Given the description of an element on the screen output the (x, y) to click on. 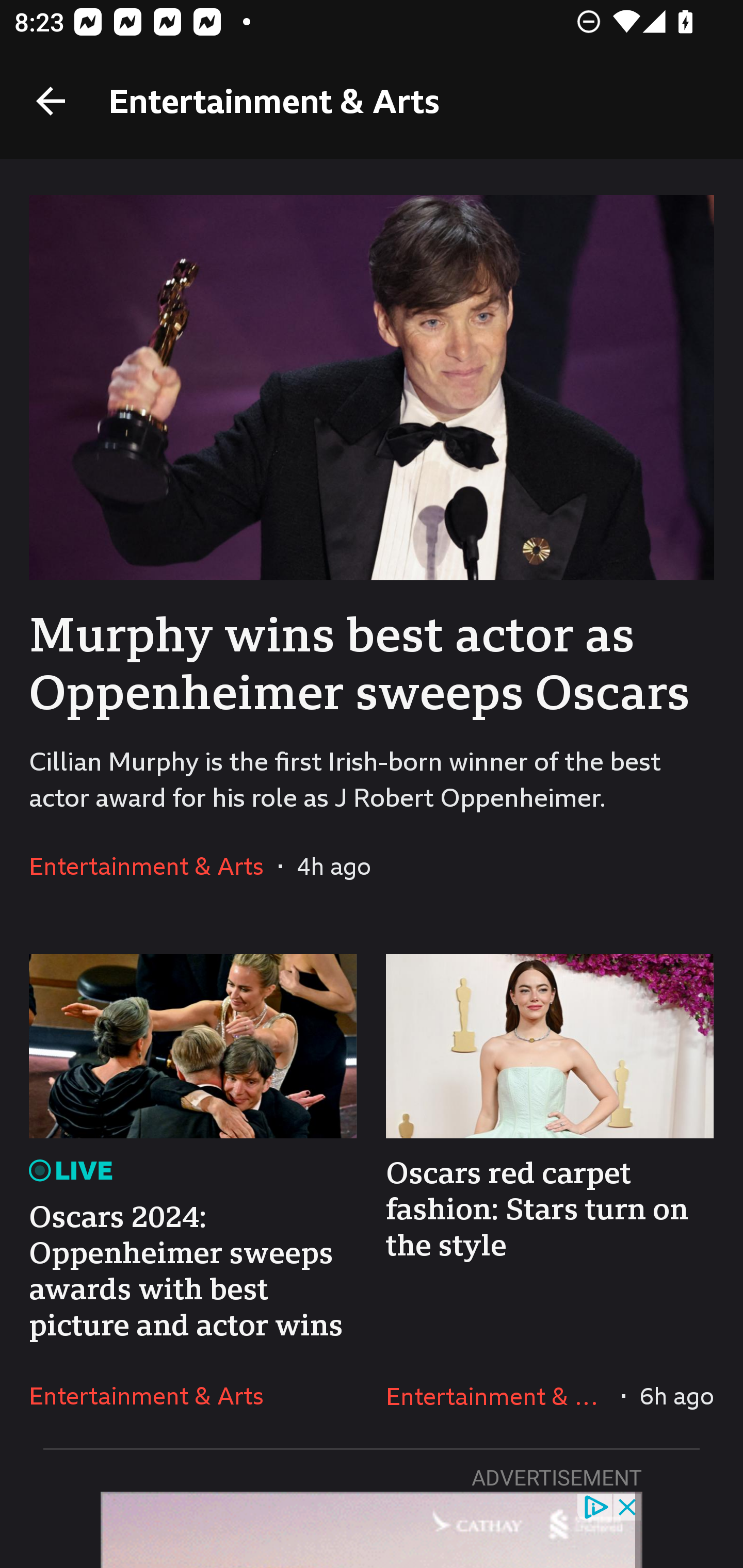
Back (50, 101)
privacy_small (595, 1505)
close_button (627, 1505)
